Given the description of an element on the screen output the (x, y) to click on. 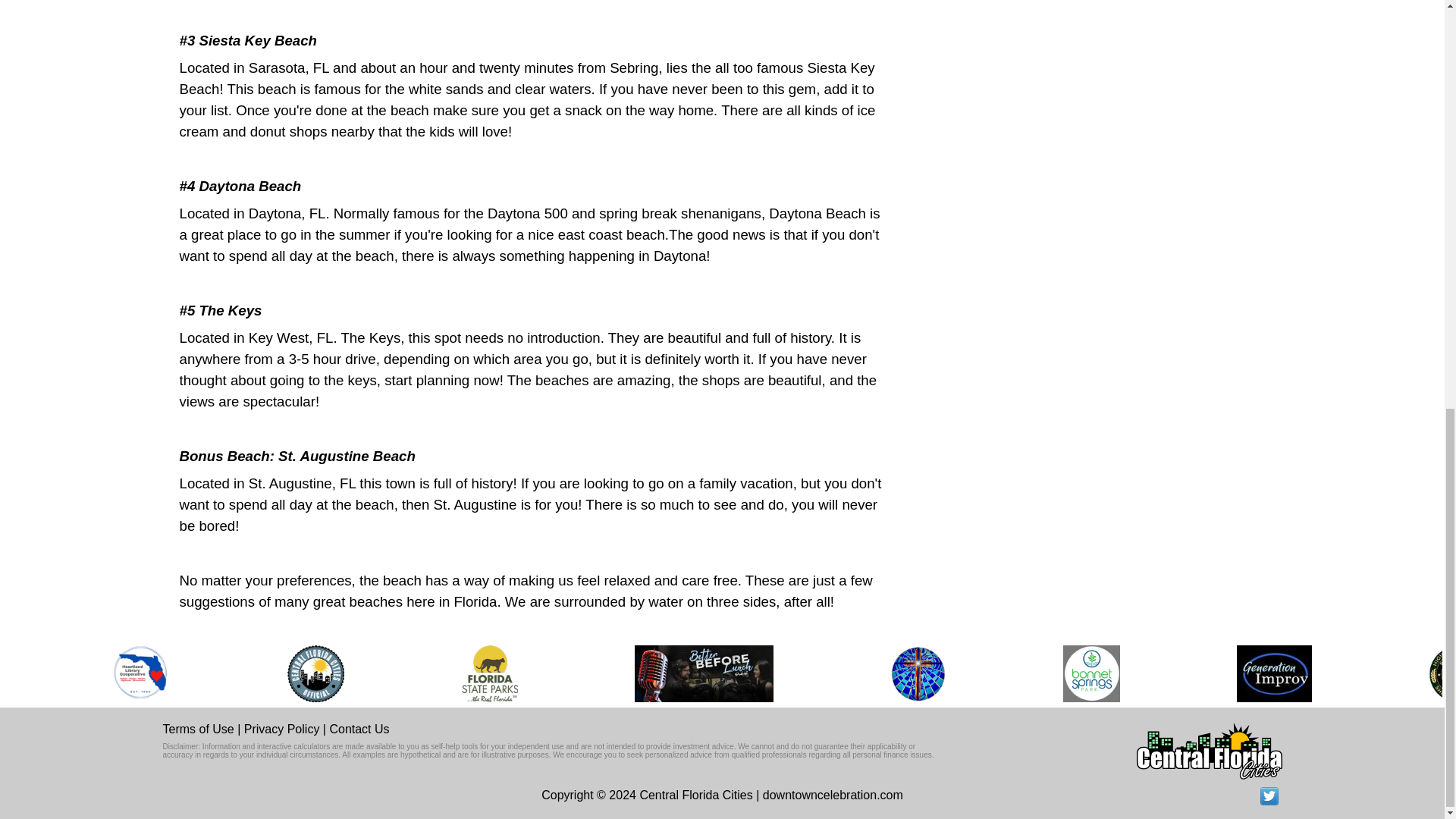
Florida State Parks - FL-DEP-STATE-PARKS-TAG.png (489, 673)
Better Before Lunch - Betterbeforelunchpodcast41.jpg (703, 673)
Bonnet Springs Park - Bonnett-Springs-Lakeland-logo.png (1090, 673)
Generation Improv - generation-Improv logo.jpg (1273, 673)
